Given the description of an element on the screen output the (x, y) to click on. 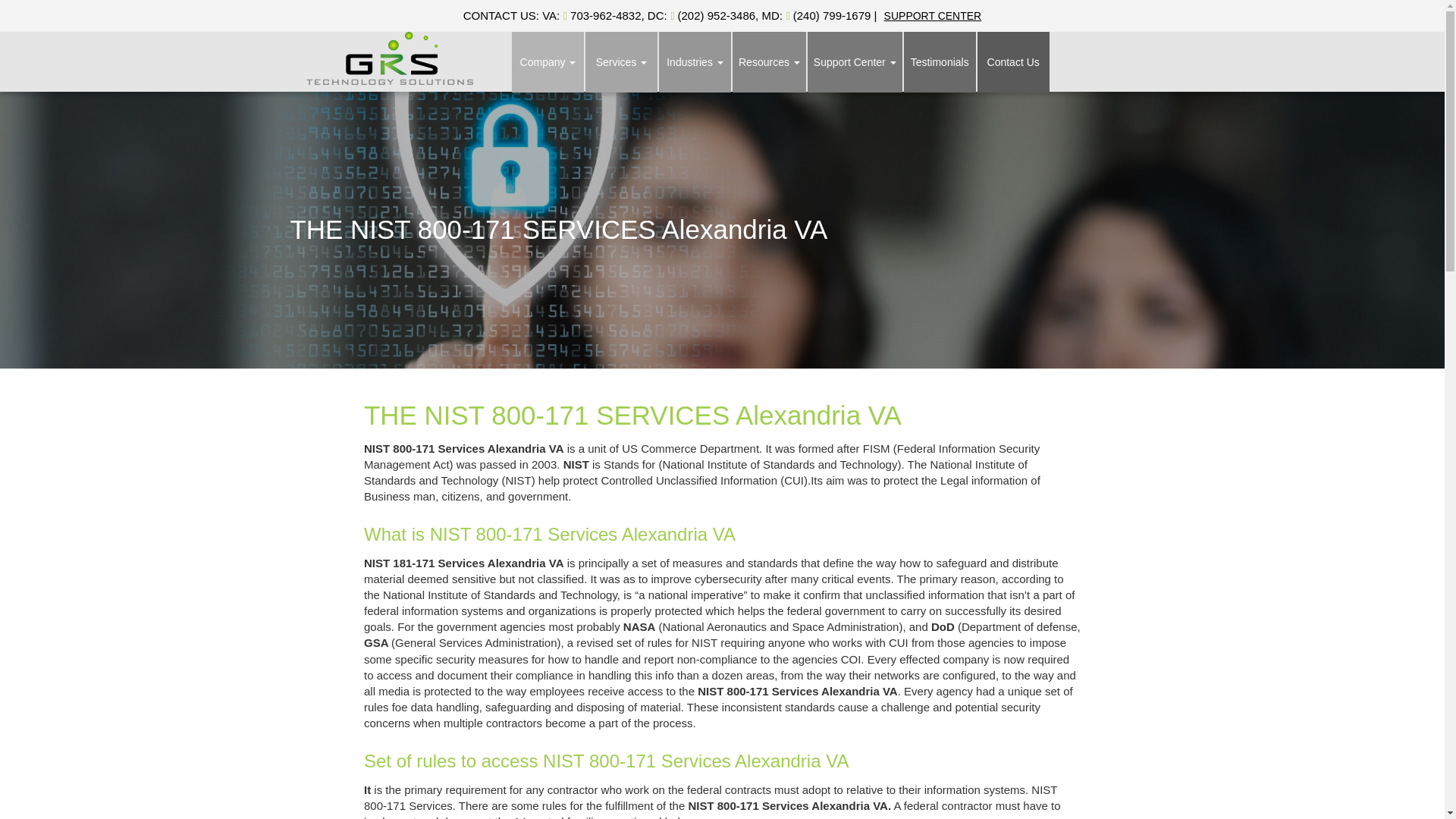
Industries (694, 61)
Resources (769, 61)
SUPPORT CENTER (932, 15)
Clients Testimonials (939, 61)
Contact GRS Technology Solutions (1012, 61)
Services (621, 61)
Company (547, 61)
Support Center (855, 61)
